Given the description of an element on the screen output the (x, y) to click on. 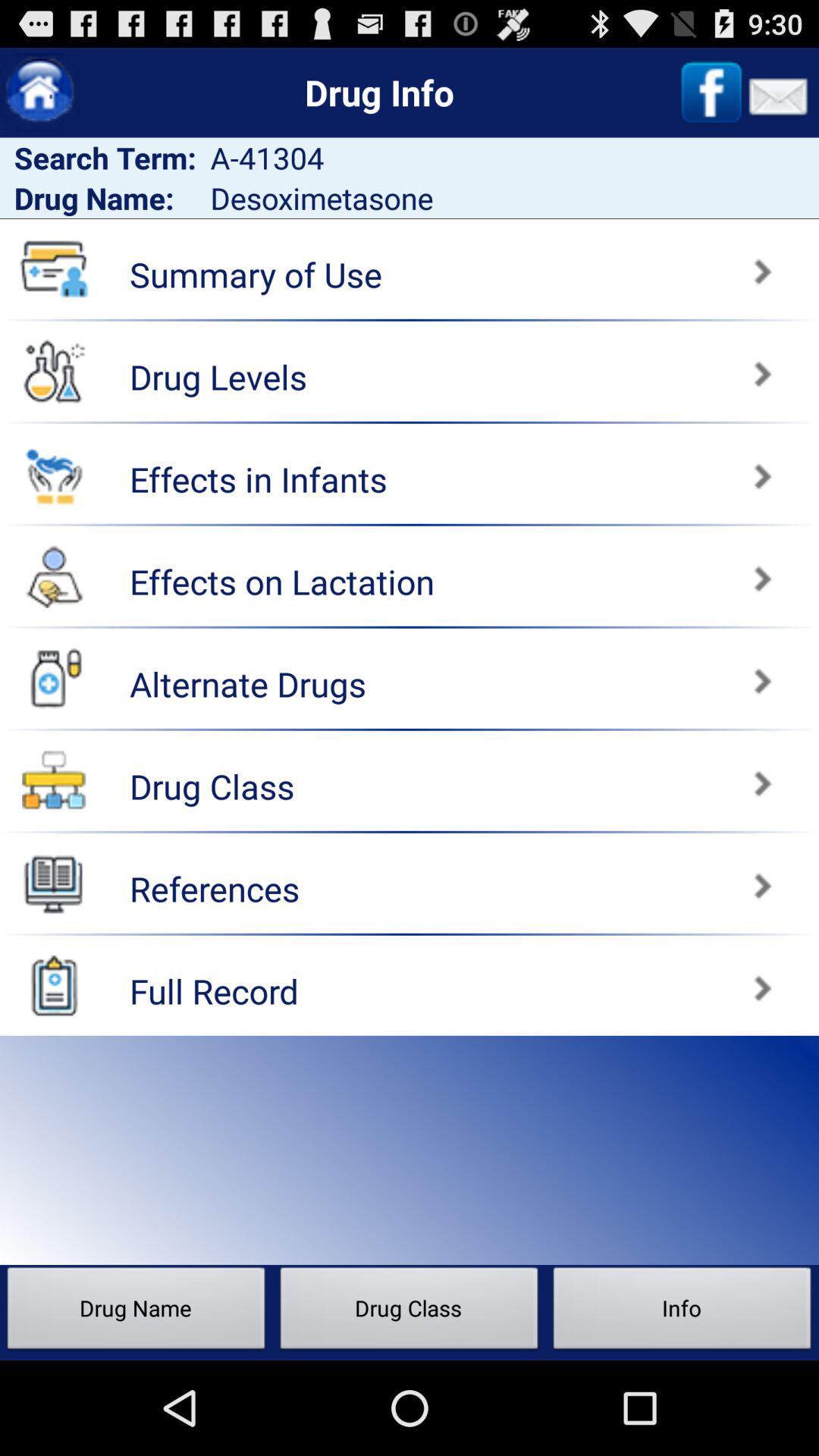
next (617, 673)
